Given the description of an element on the screen output the (x, y) to click on. 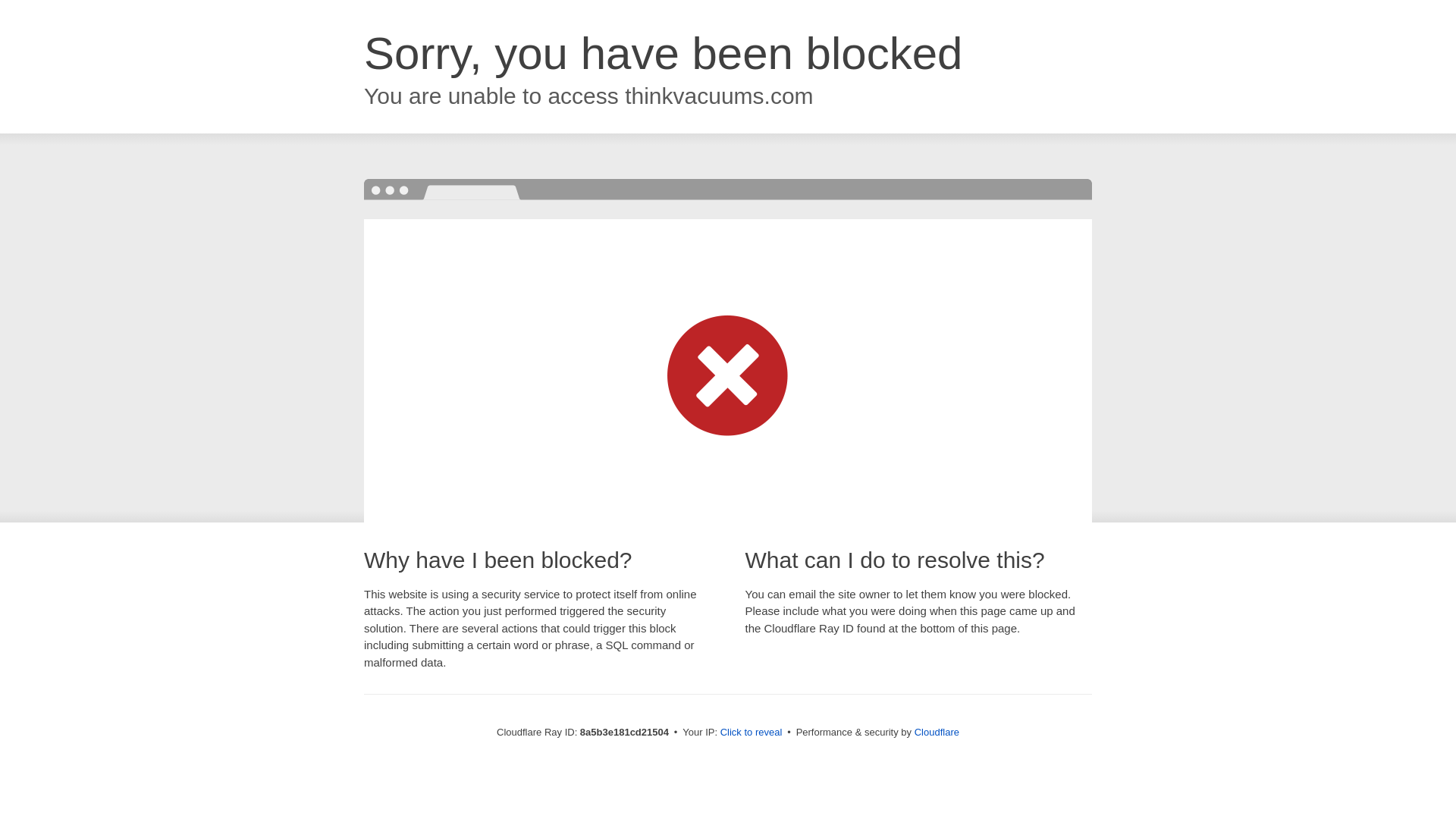
Click to reveal (751, 732)
Cloudflare (936, 731)
